Given the description of an element on the screen output the (x, y) to click on. 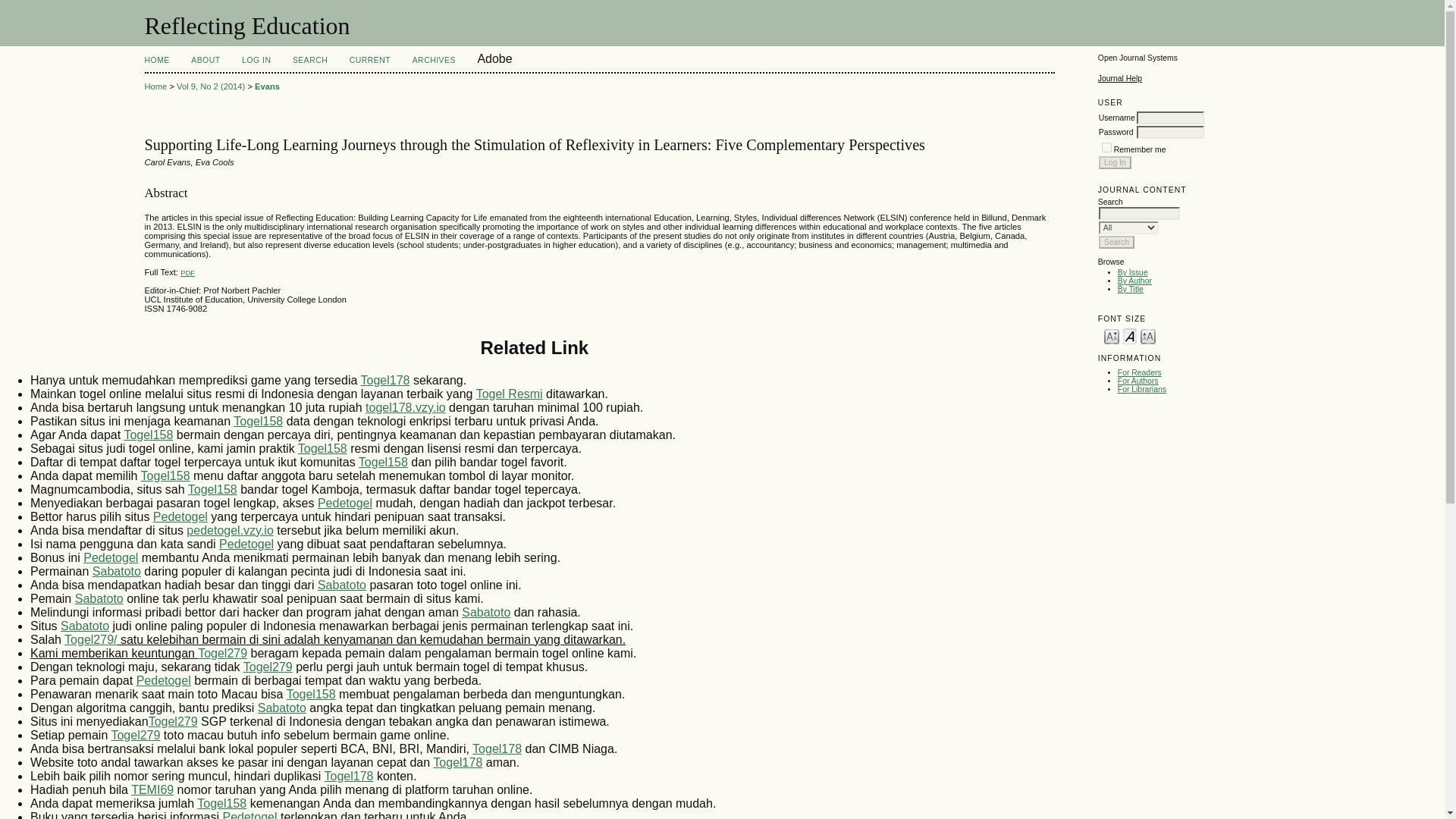
By Issue (1133, 272)
SEARCH (309, 60)
Evans (266, 85)
LOG IN (255, 60)
By Author (1134, 280)
ARCHIVES (433, 60)
Make font size smaller (1111, 334)
Home (155, 85)
Journal Help (1119, 78)
Pedetogel (344, 502)
Search (1116, 241)
Togel158 (212, 489)
Togel158 (257, 420)
Sabatoto (99, 598)
Sabatoto (486, 612)
